Given the description of an element on the screen output the (x, y) to click on. 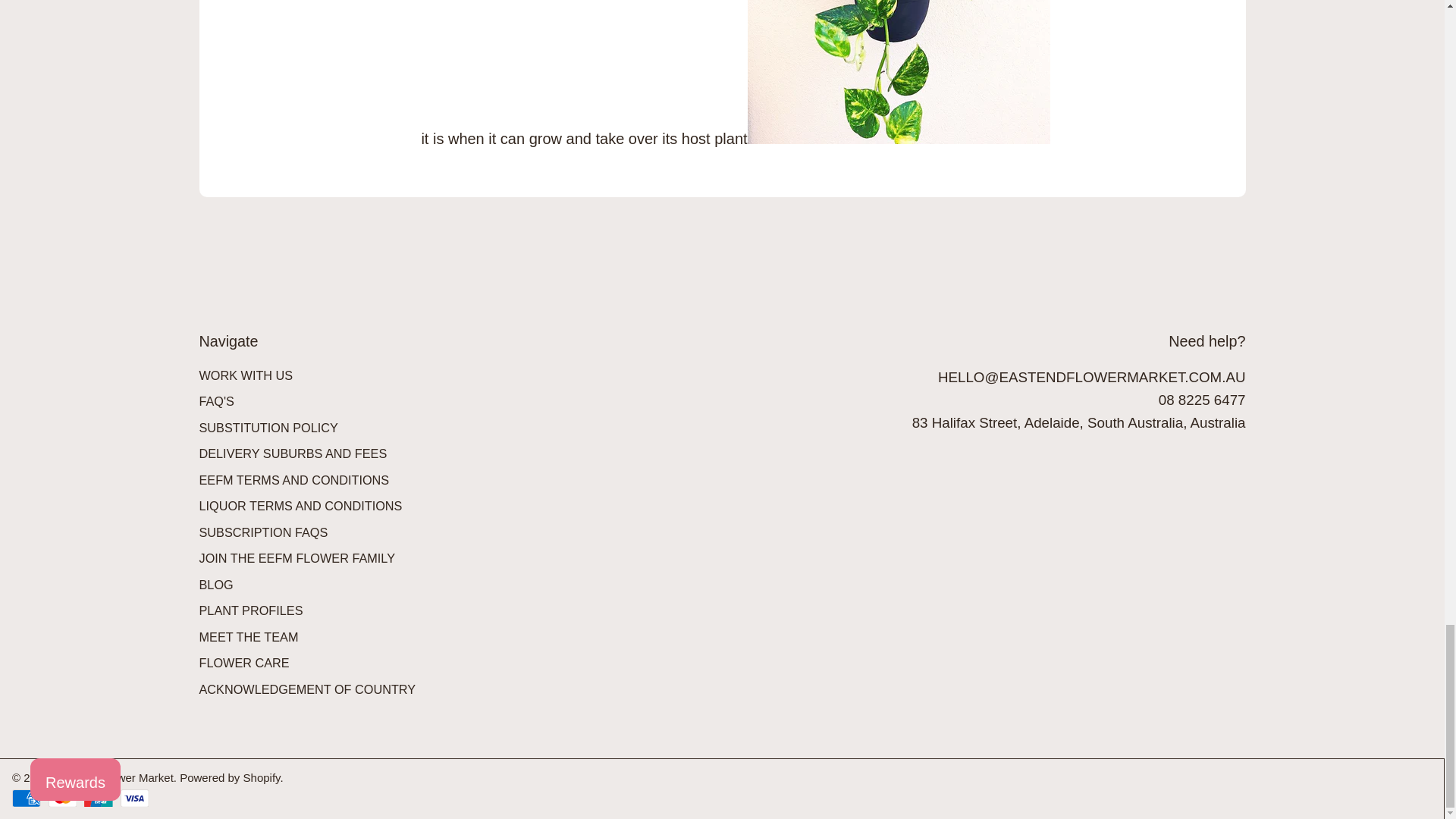
American Express (25, 798)
Union Pay (98, 798)
Visa (134, 798)
Mastercard (62, 798)
